Given the description of an element on the screen output the (x, y) to click on. 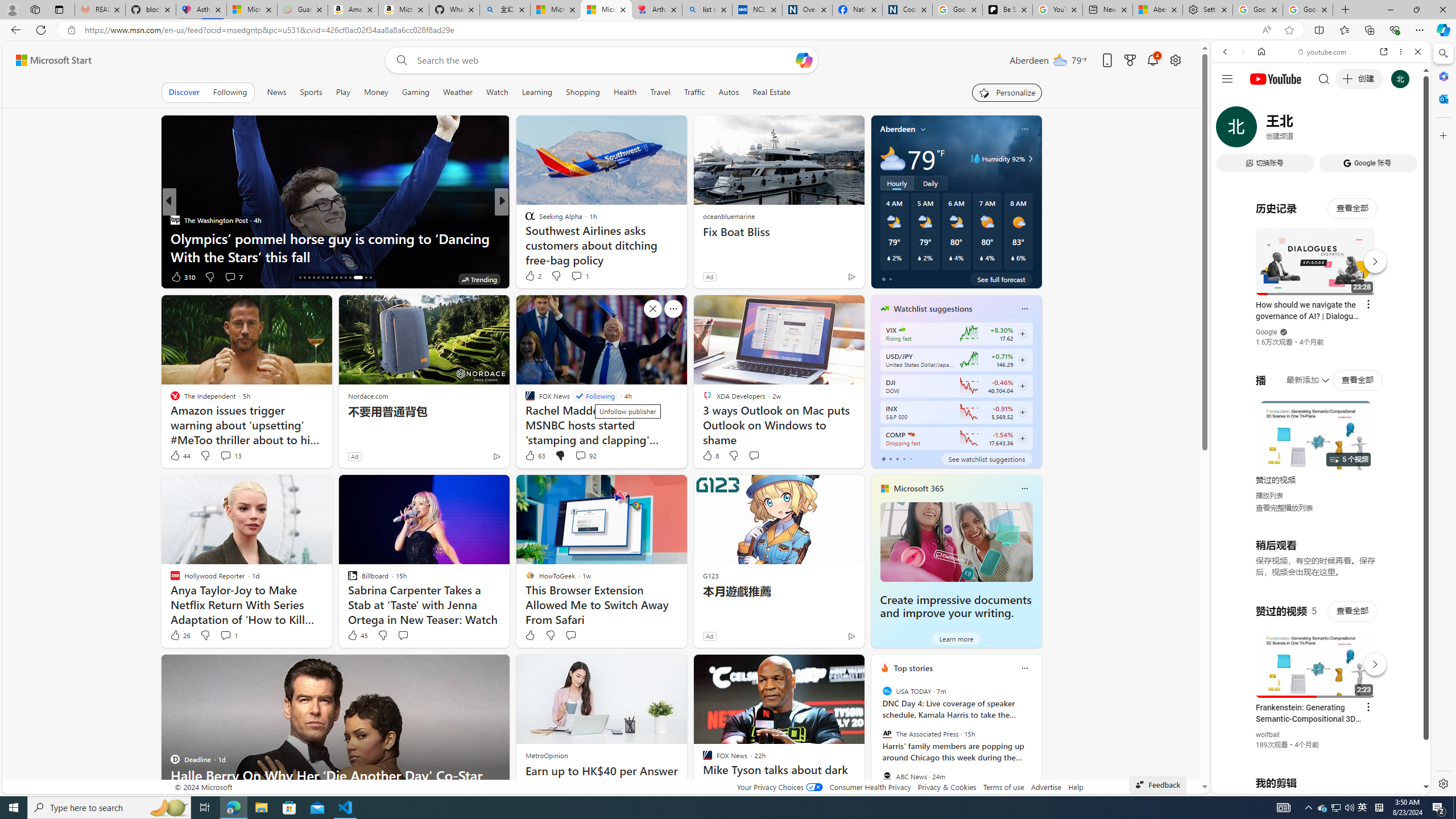
AutomationID: tab-18 (309, 277)
US[ju] (1249, 785)
26 Like (179, 634)
Dislike (550, 634)
View comments 1 Comment (225, 635)
Watchlist suggestions (932, 308)
AutomationID: tab-29 (362, 277)
